Given the description of an element on the screen output the (x, y) to click on. 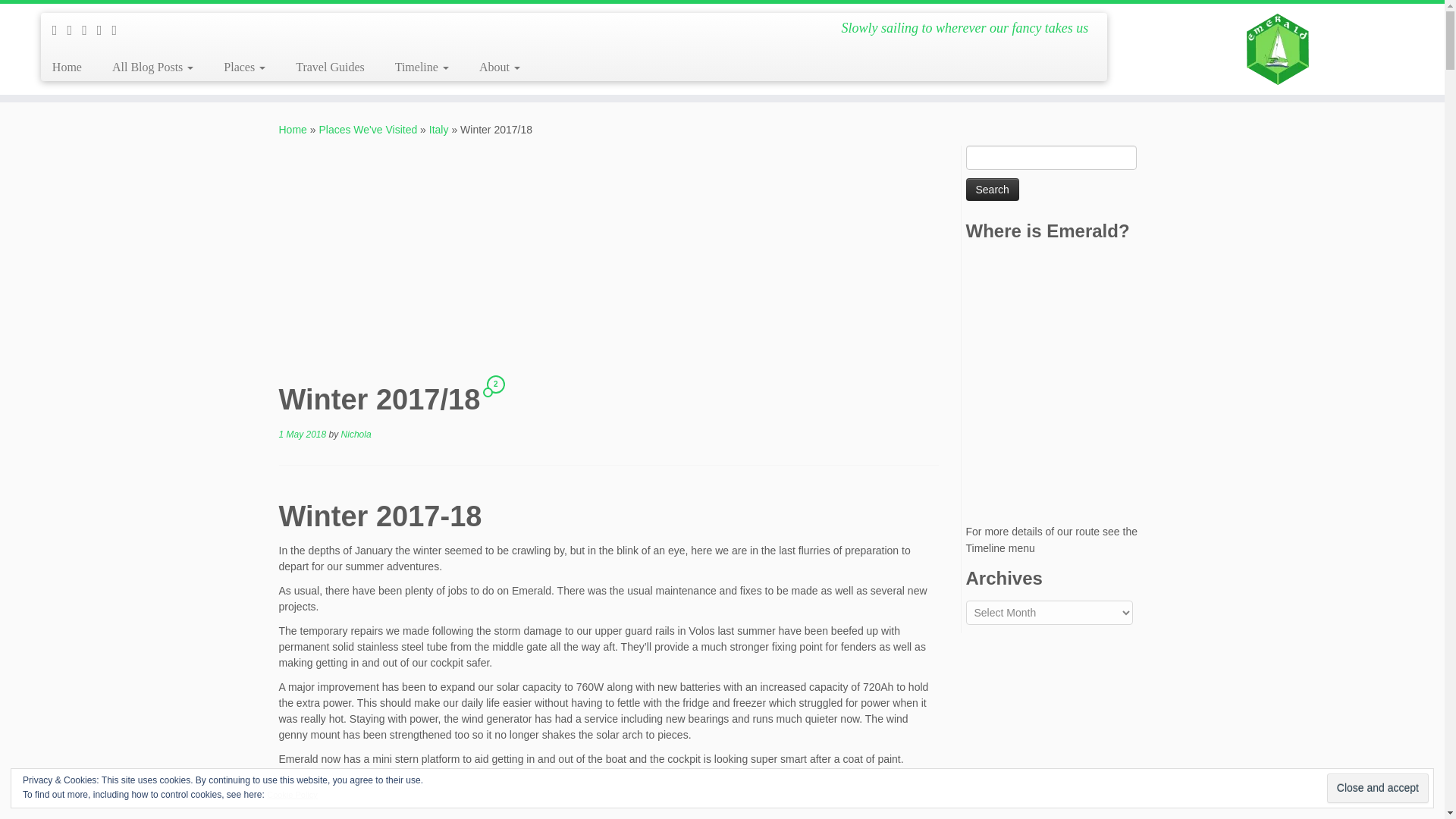
Places (244, 67)
All Blog Posts (152, 67)
Close and accept (1377, 788)
Follow me on Facebook (89, 29)
Timeline (422, 67)
Blogs by Year (422, 67)
All Blog Posts (152, 67)
Follow us on Instagram (104, 29)
Follow us on Youtube (119, 29)
Search (992, 189)
